Given the description of an element on the screen output the (x, y) to click on. 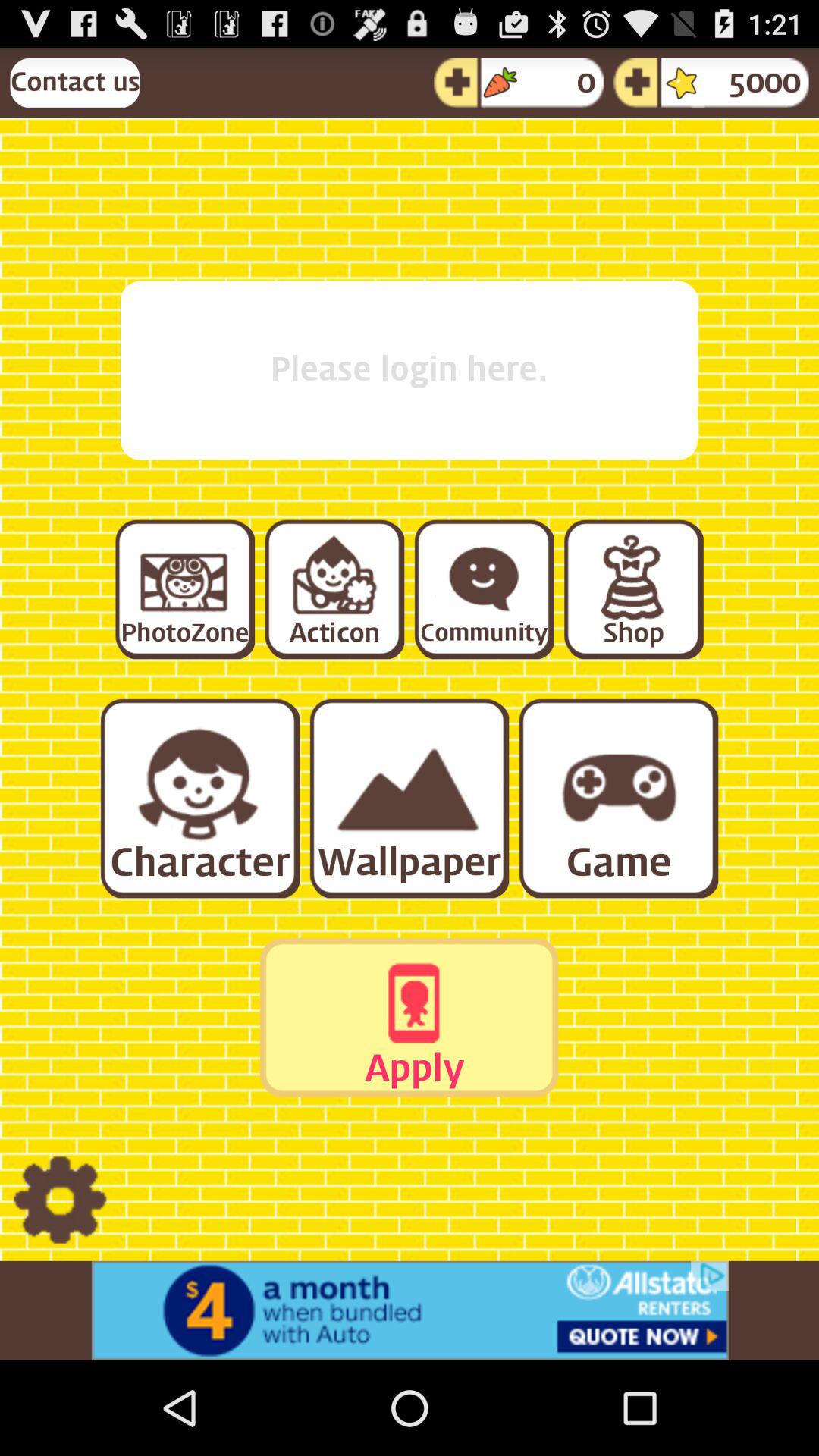
select acticon option (333, 588)
